Given the description of an element on the screen output the (x, y) to click on. 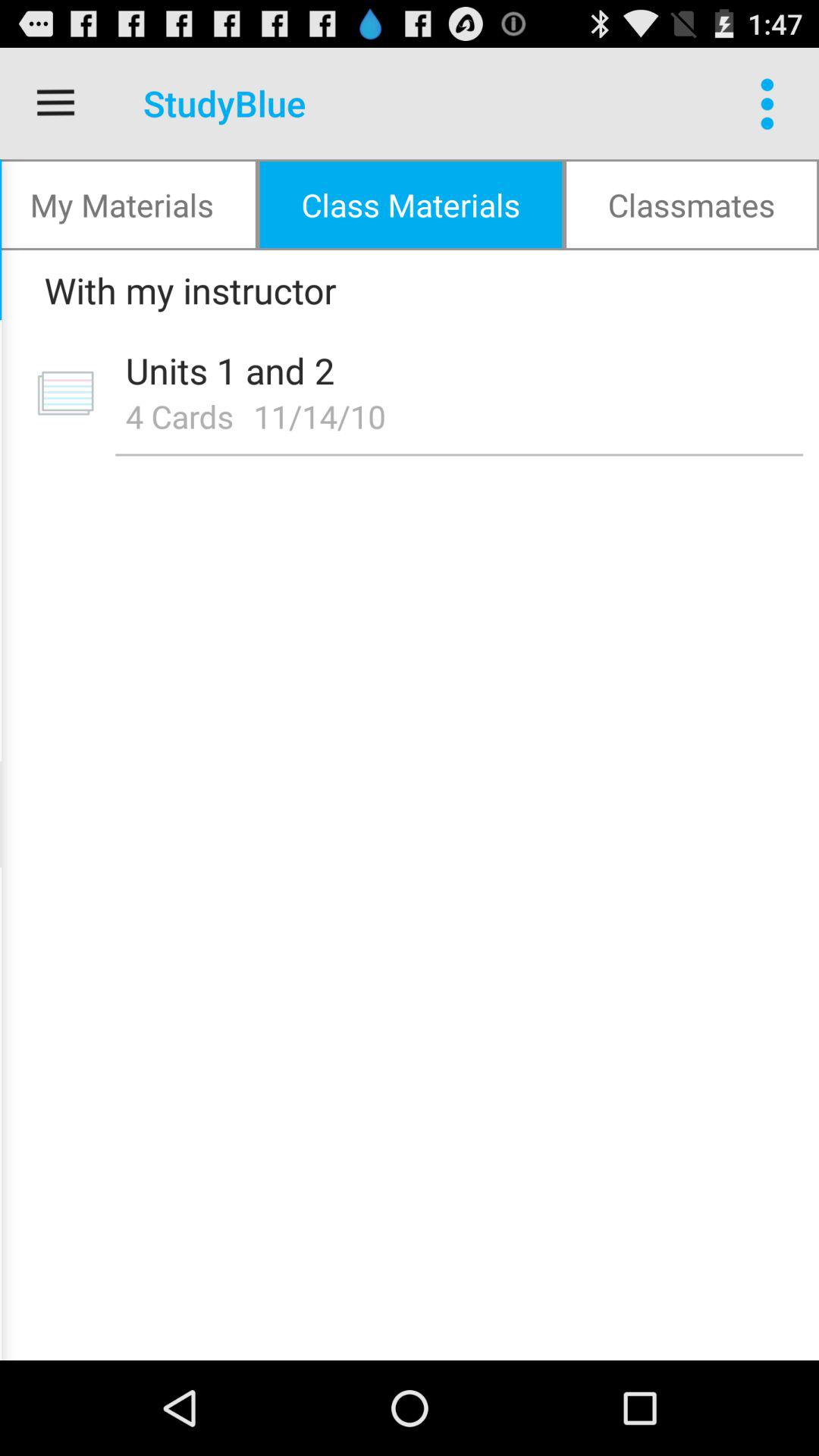
turn on the icon next to 4 cards item (324, 415)
